Given the description of an element on the screen output the (x, y) to click on. 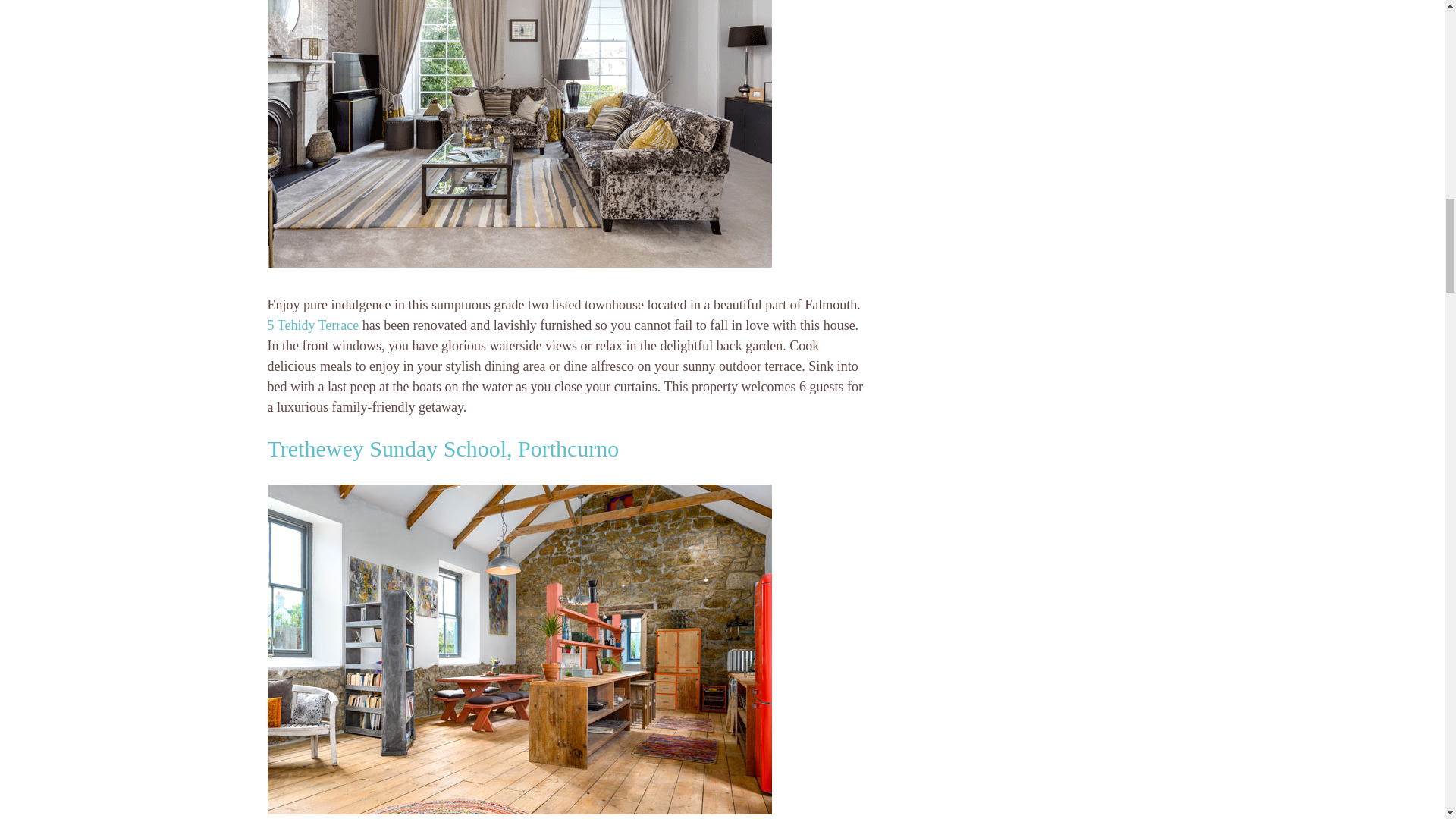
5 Tehidy Terrace (312, 324)
